Given the description of an element on the screen output the (x, y) to click on. 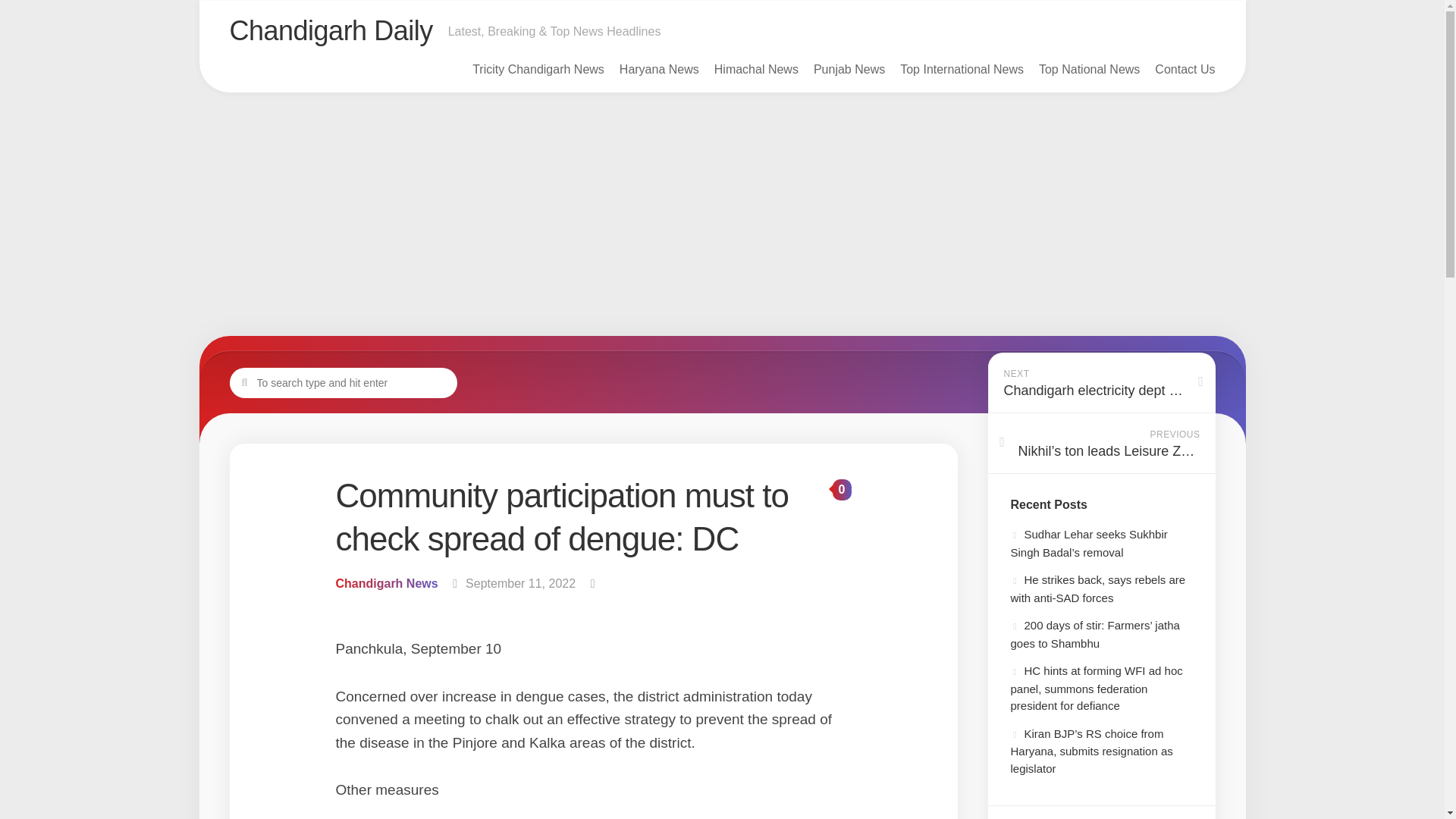
Haryana News (659, 69)
Chandigarh News (386, 583)
Punjab News (849, 69)
To search type and hit enter (342, 381)
He strikes back, says rebels are with anti-SAD forces (1097, 588)
0 (841, 489)
Himachal News (755, 69)
Chandigarh Daily (330, 31)
